Given the description of an element on the screen output the (x, y) to click on. 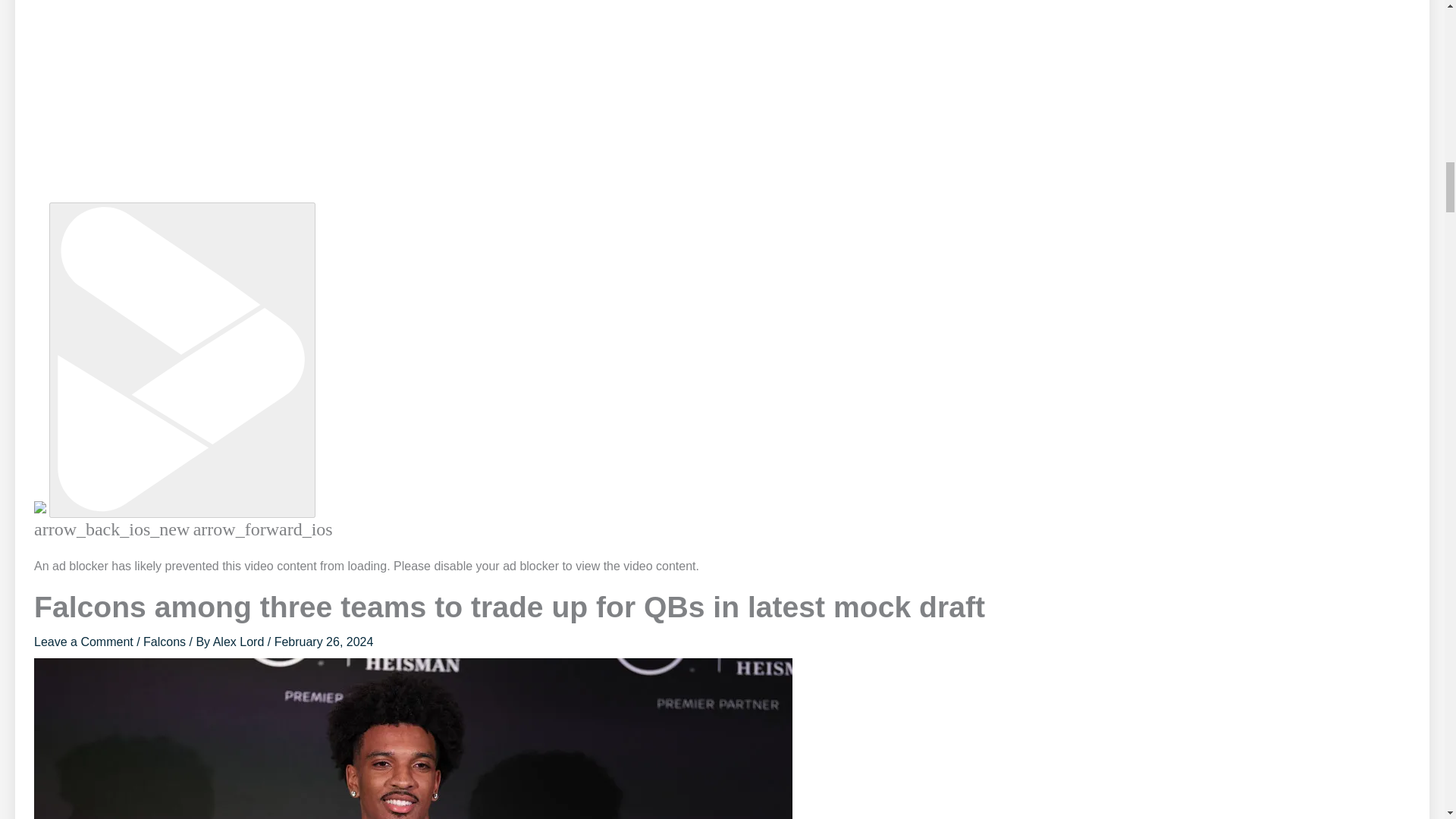
View all posts by Alex Lord (239, 641)
